Given the description of an element on the screen output the (x, y) to click on. 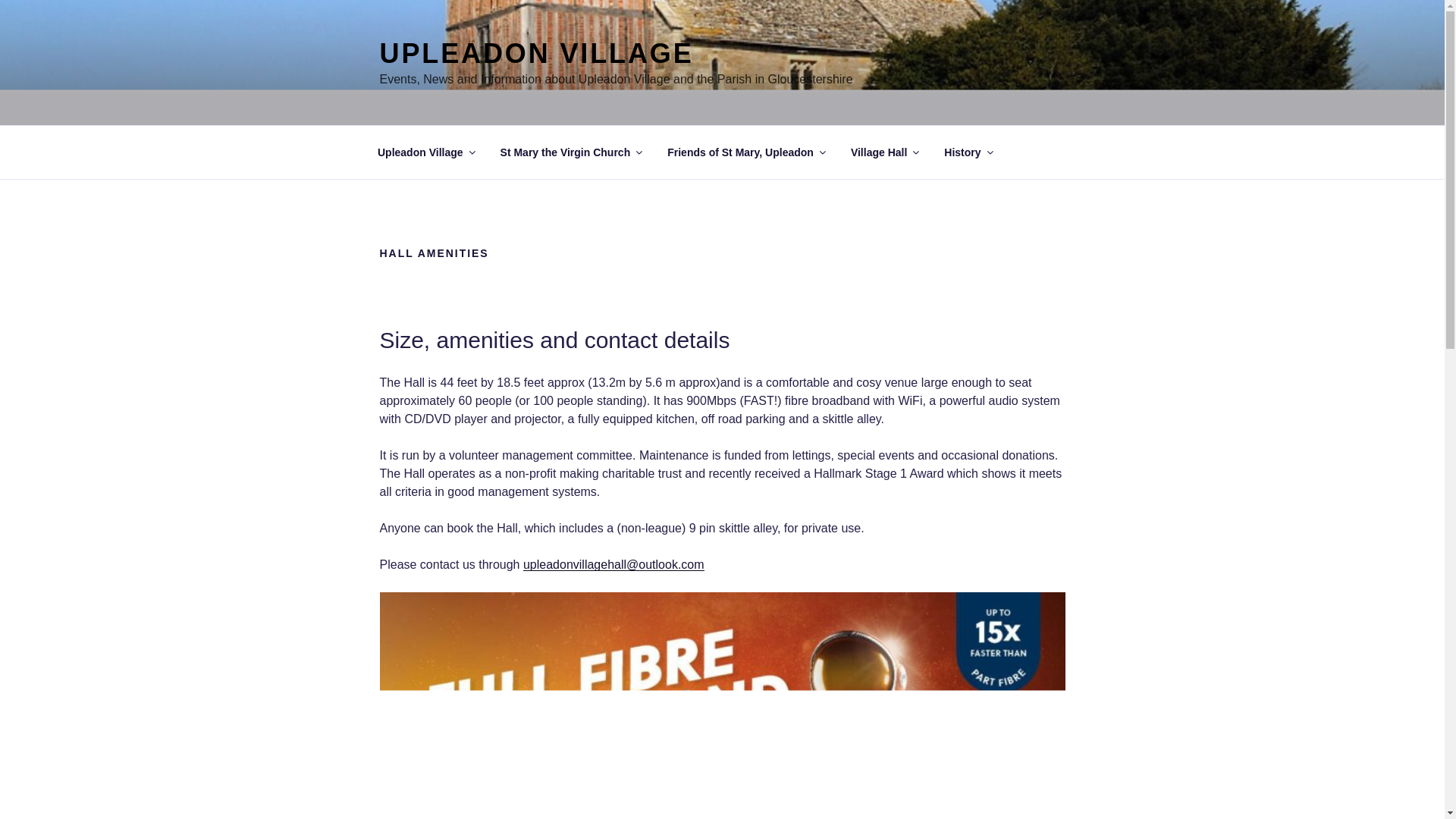
Village Hall (883, 151)
History (967, 151)
Friends of St Mary, Upleadon (745, 151)
Upleadon Village (425, 151)
St Mary the Virgin Church (569, 151)
UPLEADON VILLAGE (535, 52)
